Given the description of an element on the screen output the (x, y) to click on. 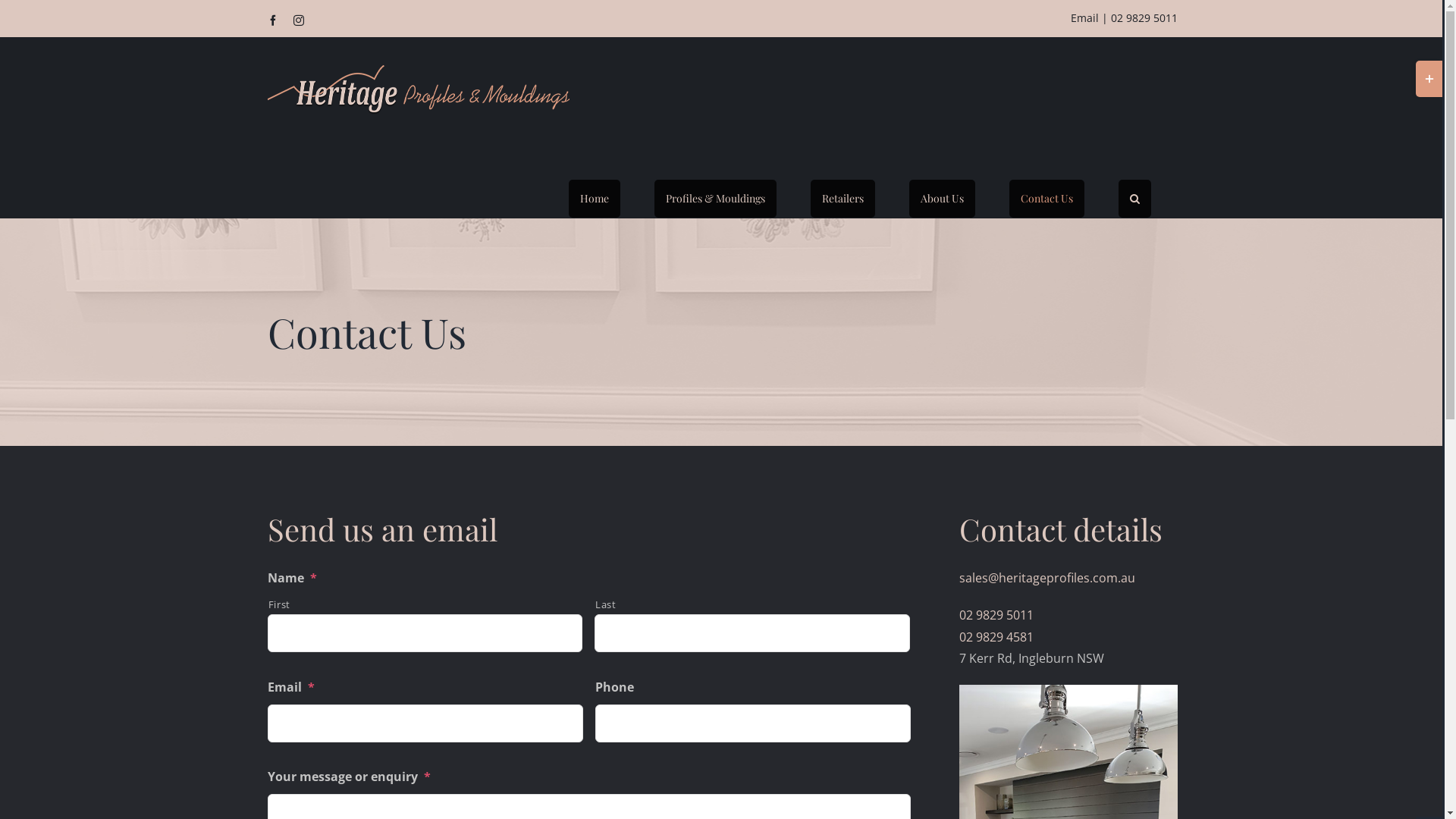
02 9829 5011 Element type: text (1143, 17)
02 9829 4581 Element type: text (995, 636)
Toggle Sliding Bar Area Element type: text (1428, 78)
Home Element type: text (594, 198)
02 9829 5011 Element type: text (995, 614)
Profiles & Mouldings Element type: text (714, 198)
Email Element type: text (1084, 17)
Retailers Element type: text (841, 198)
sales@heritageprofiles.com.au Element type: text (1046, 577)
About Us Element type: text (941, 198)
Contact Us Element type: text (1045, 198)
Facebook Element type: text (271, 20)
Instagram Element type: text (297, 20)
Search Element type: hover (1133, 198)
